Given the description of an element on the screen output the (x, y) to click on. 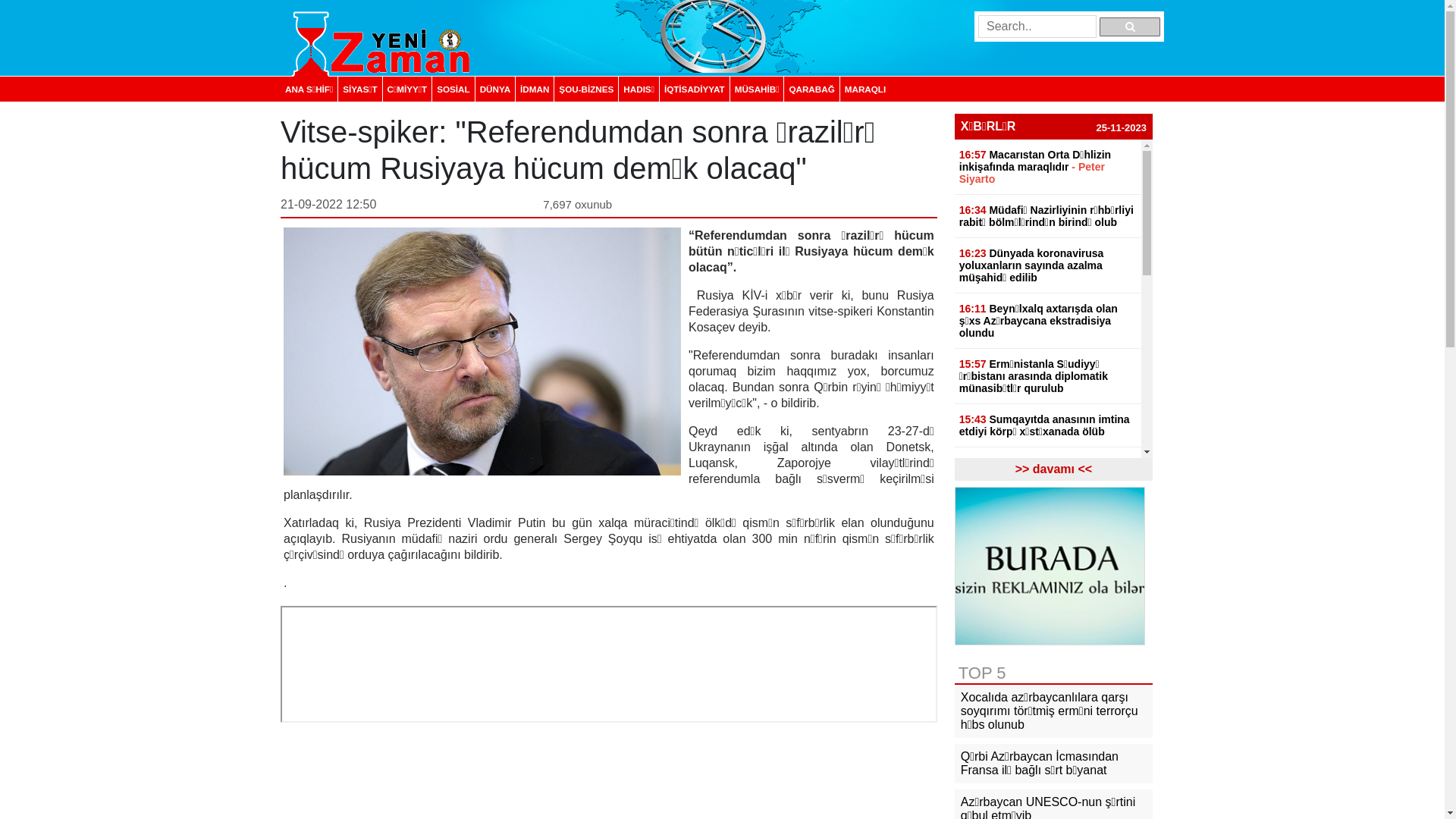
SOSIAL Element type: text (452, 88)
MARAQLI Element type: text (864, 88)
